Given the description of an element on the screen output the (x, y) to click on. 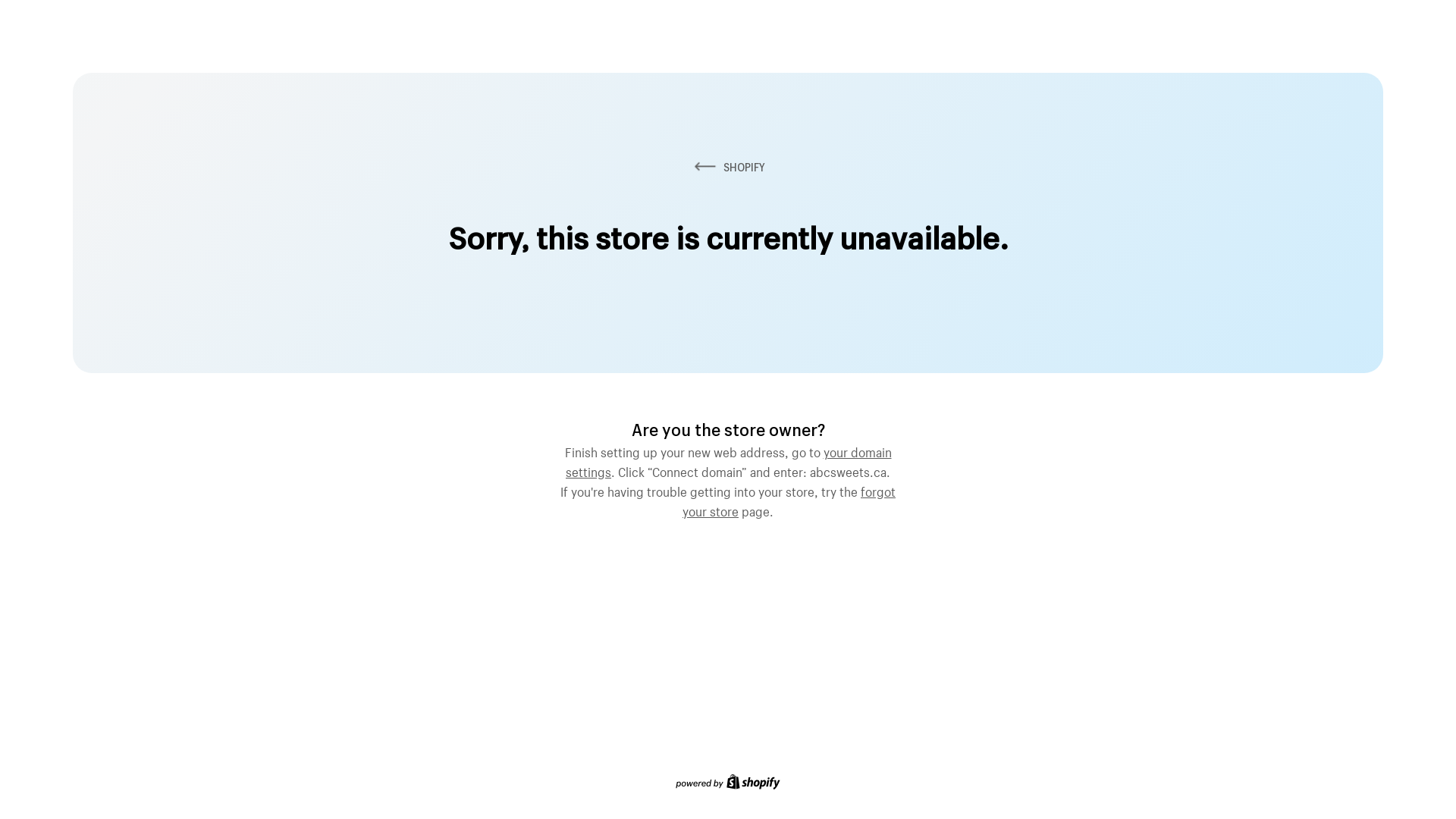
your domain settings Element type: text (728, 460)
forgot your store Element type: text (788, 499)
SHOPIFY Element type: text (727, 167)
